Given the description of an element on the screen output the (x, y) to click on. 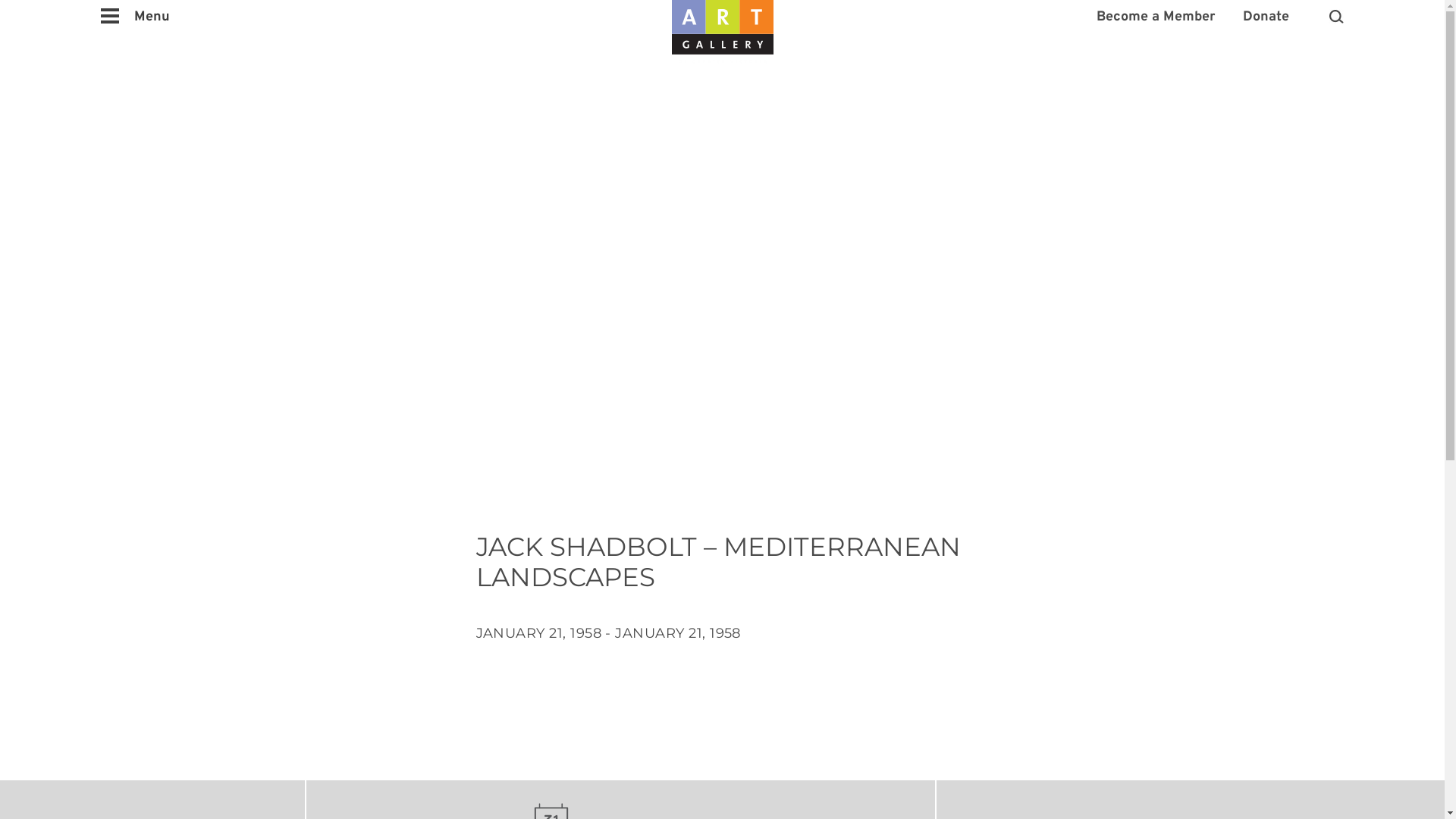
Become a Member Element type: text (1155, 17)
Donate Element type: text (1265, 17)
Menu Element type: text (134, 17)
